Given the description of an element on the screen output the (x, y) to click on. 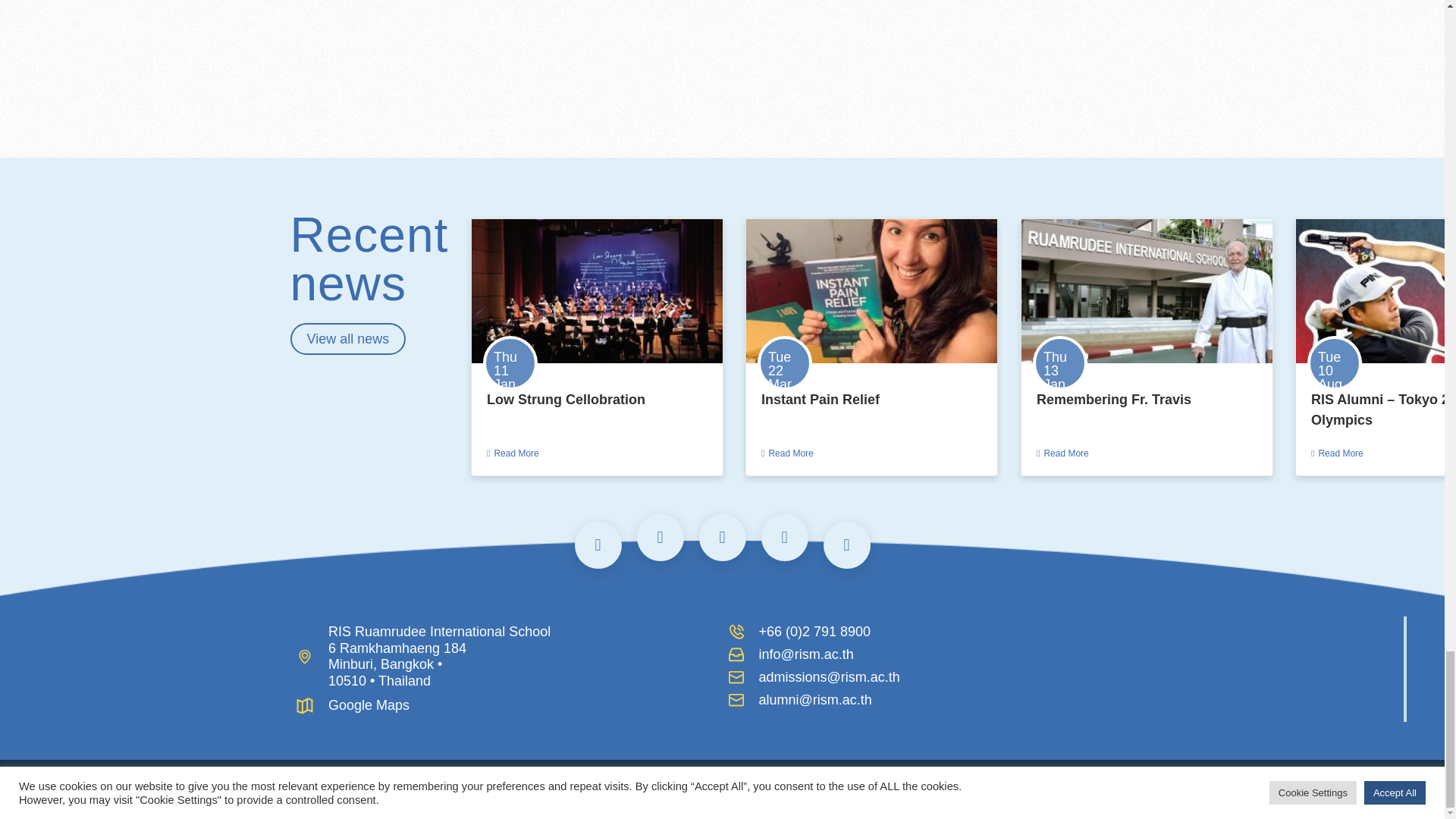
Remembering Fr. Travis (1113, 399)
Instant Pain Relief (820, 399)
Low Strung Cellobration (565, 399)
